Given the description of an element on the screen output the (x, y) to click on. 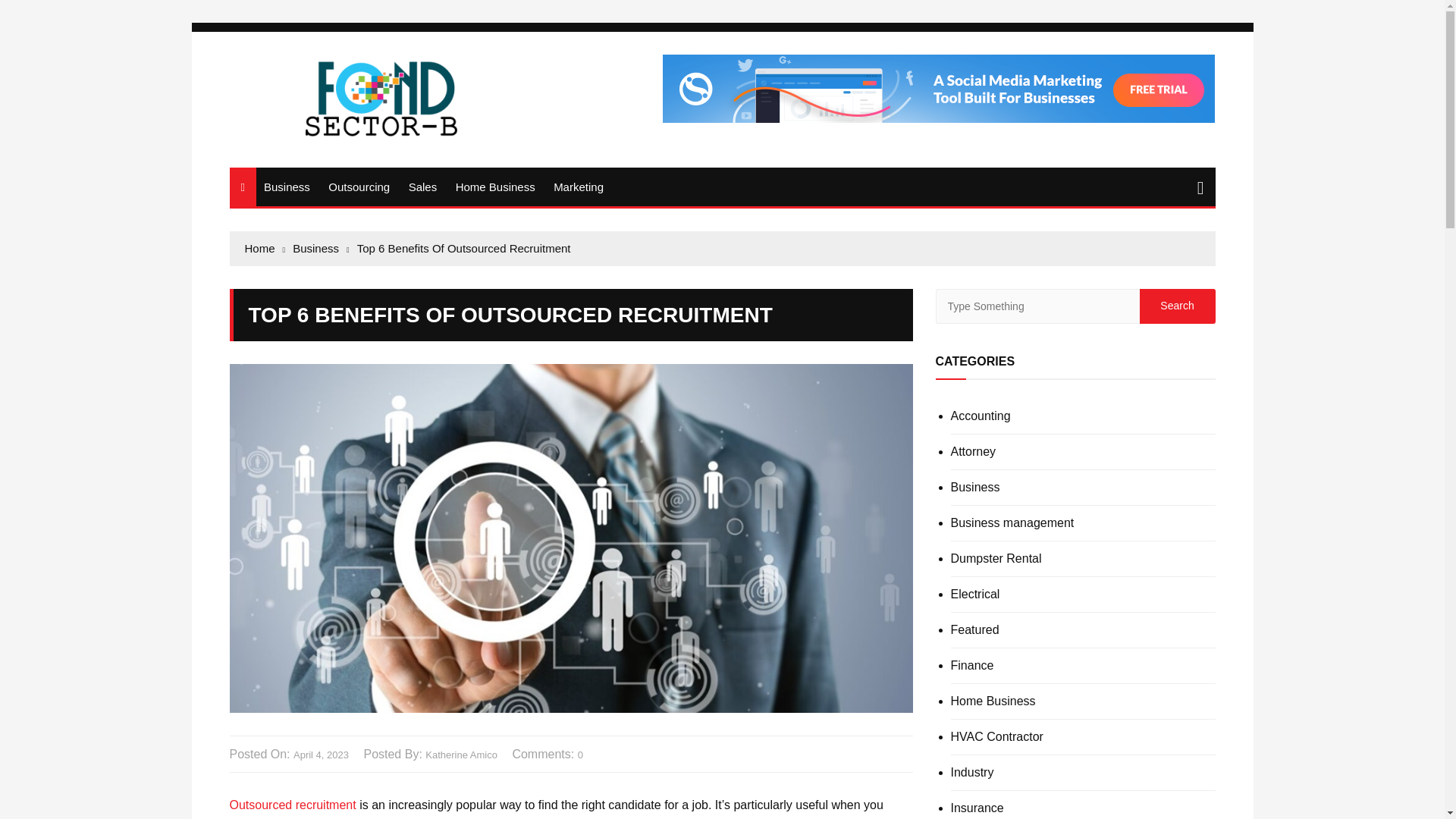
Business (286, 186)
Business management (1012, 522)
Attorney (972, 451)
Industry (972, 772)
Outsourced recruitment (291, 804)
Search (1176, 306)
Featured (974, 630)
Home Business (495, 186)
Sales (423, 186)
Finance (972, 665)
Electrical (975, 594)
Home Business (992, 701)
Katherine Amico (461, 755)
HVAC Contractor (996, 736)
Home (264, 248)
